Given the description of an element on the screen output the (x, y) to click on. 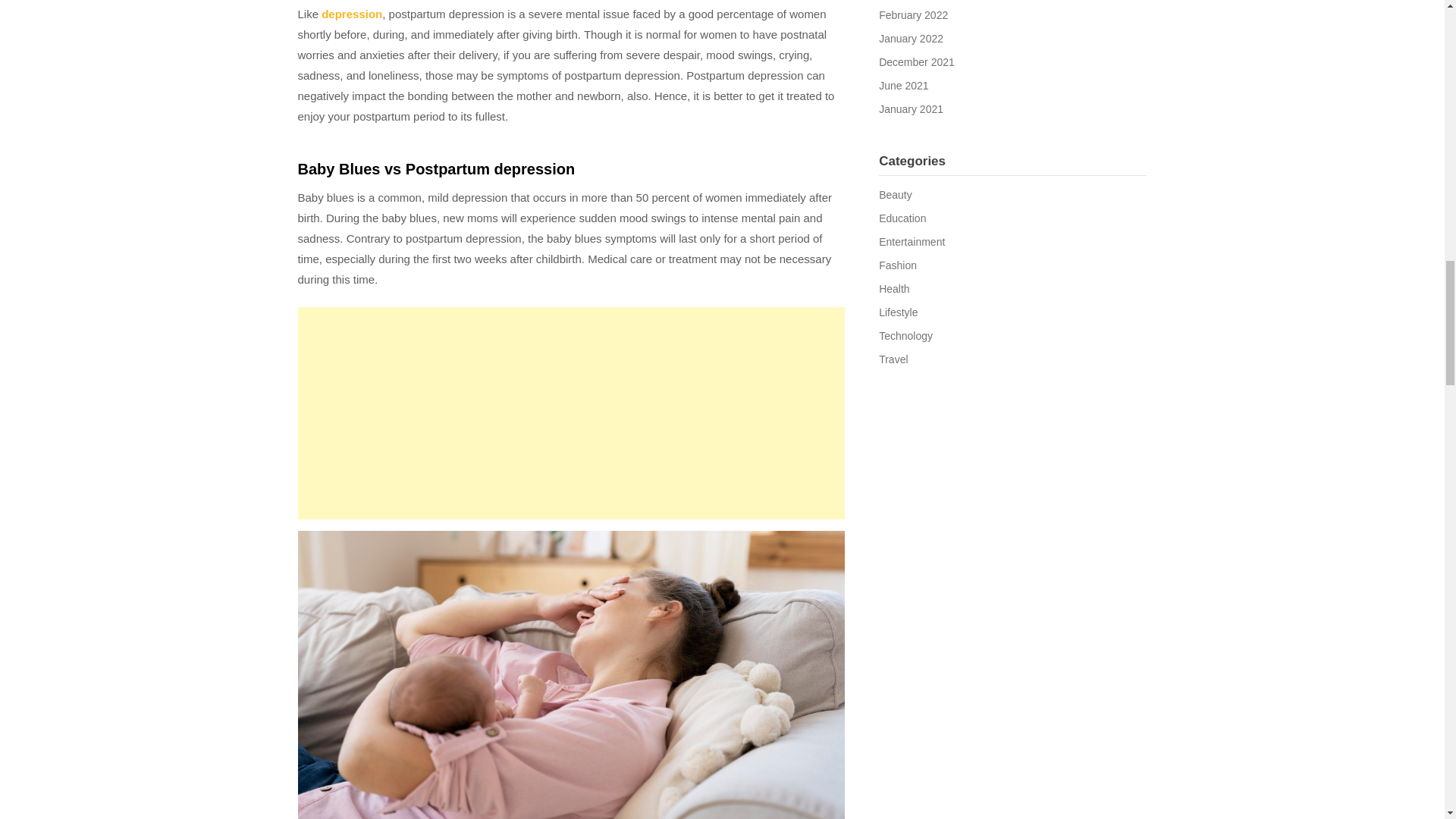
depression (351, 13)
